Given the description of an element on the screen output the (x, y) to click on. 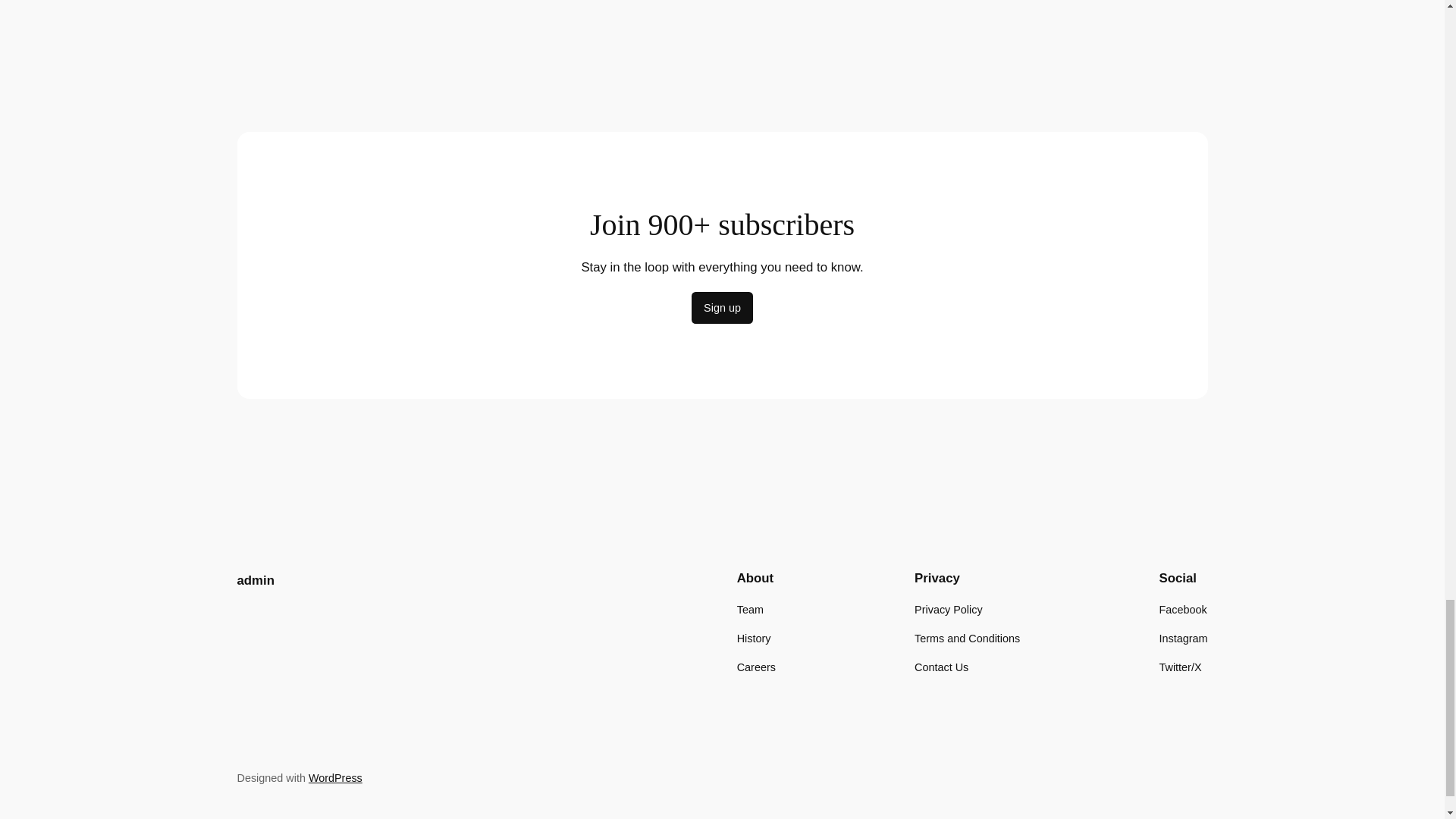
Instagram (1182, 638)
Careers (756, 667)
History (753, 638)
admin (254, 580)
Team (749, 609)
Terms and Conditions (967, 638)
Facebook (1182, 609)
Privacy Policy (948, 609)
WordPress (335, 777)
Contact Us (941, 667)
